Given the description of an element on the screen output the (x, y) to click on. 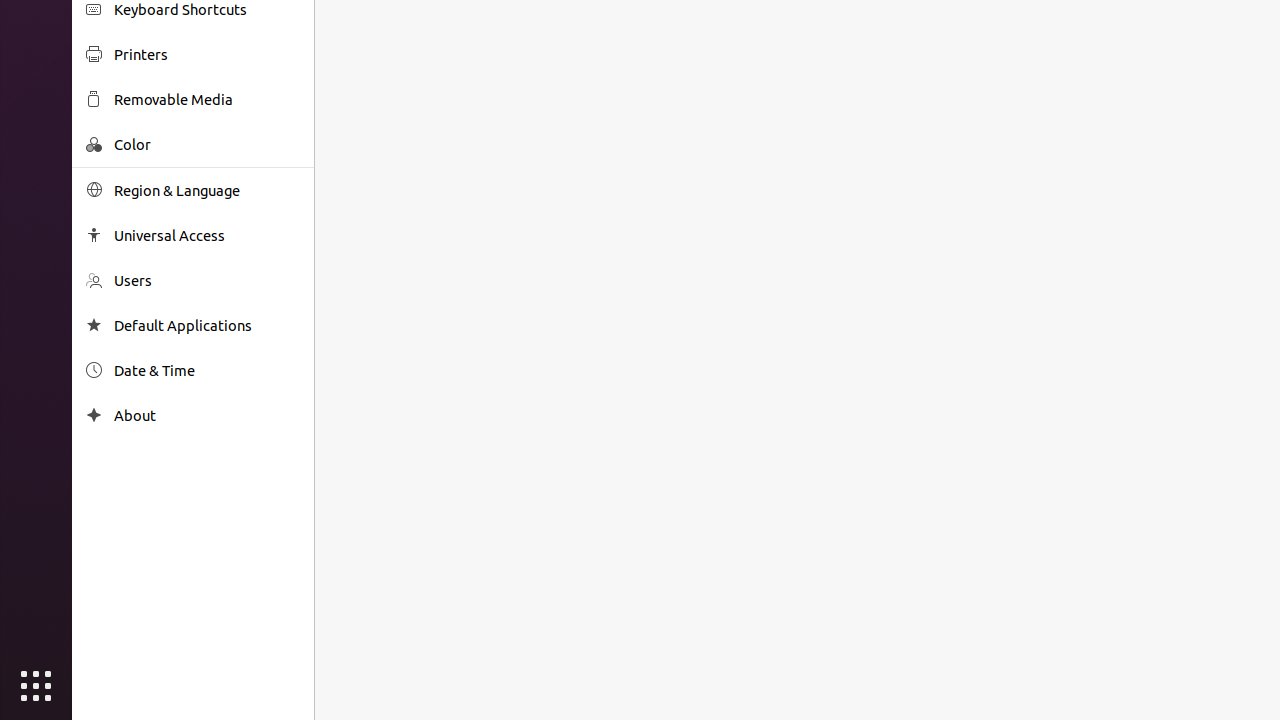
Removable Media Element type: label (207, 99)
Users Element type: label (207, 280)
